Given the description of an element on the screen output the (x, y) to click on. 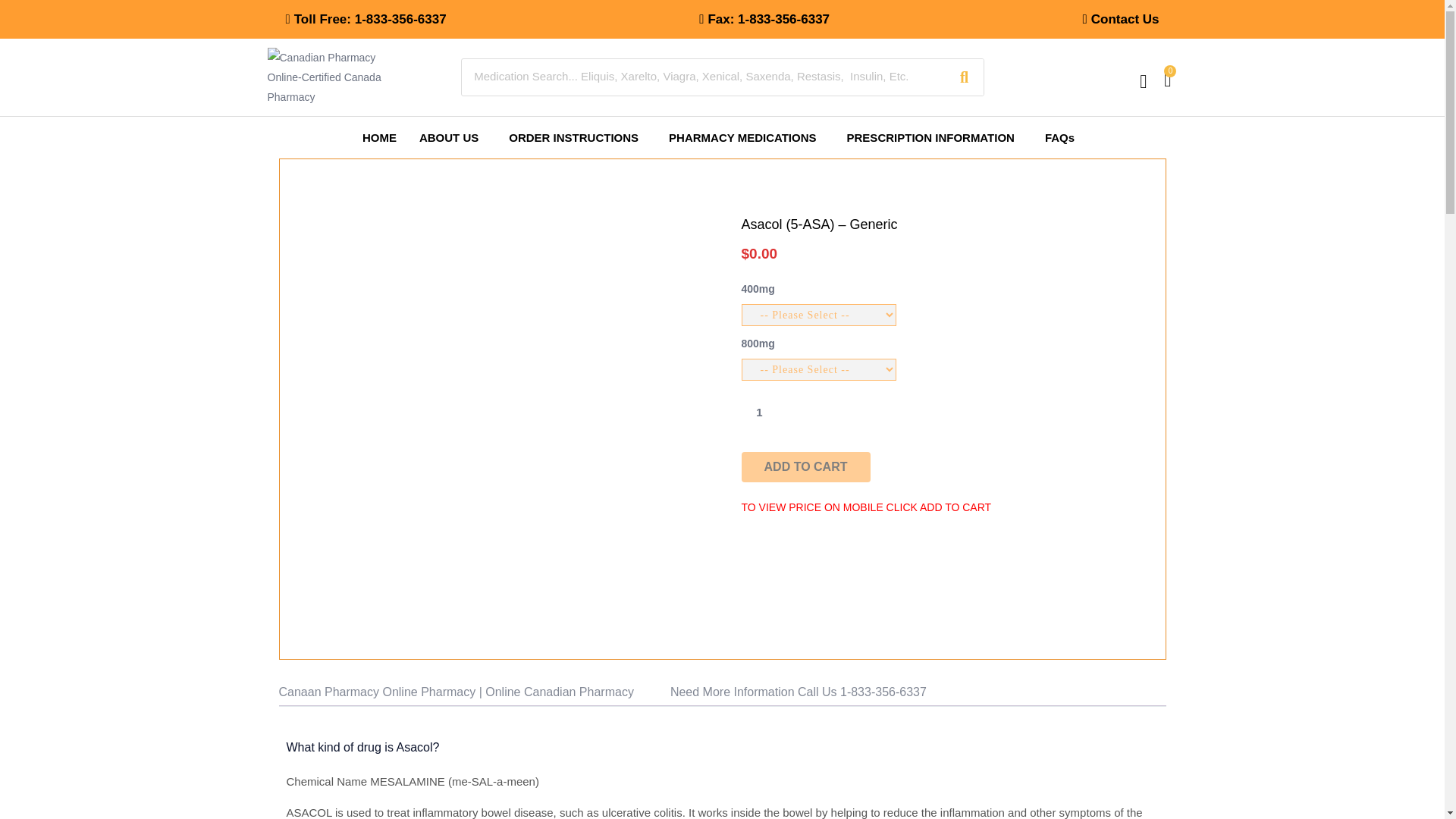
1 (759, 411)
Search (963, 76)
Contact Us (1120, 19)
Search (702, 75)
HOME (378, 137)
Toll Free: 1-833-356-6337 (365, 19)
Fax: 1-833-356-6337 (764, 19)
ABOUT US (452, 137)
